Given the description of an element on the screen output the (x, y) to click on. 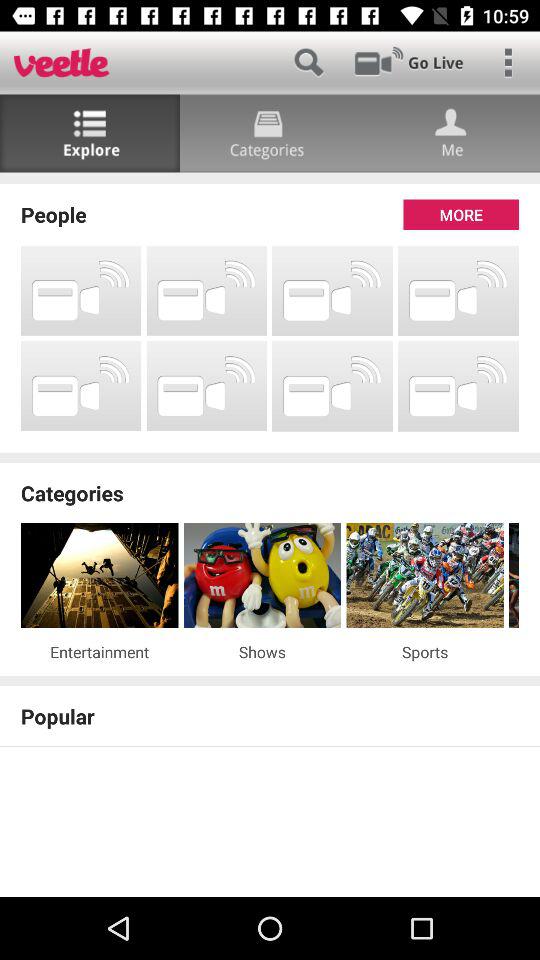
turn off the item at the bottom right corner (424, 651)
